Given the description of an element on the screen output the (x, y) to click on. 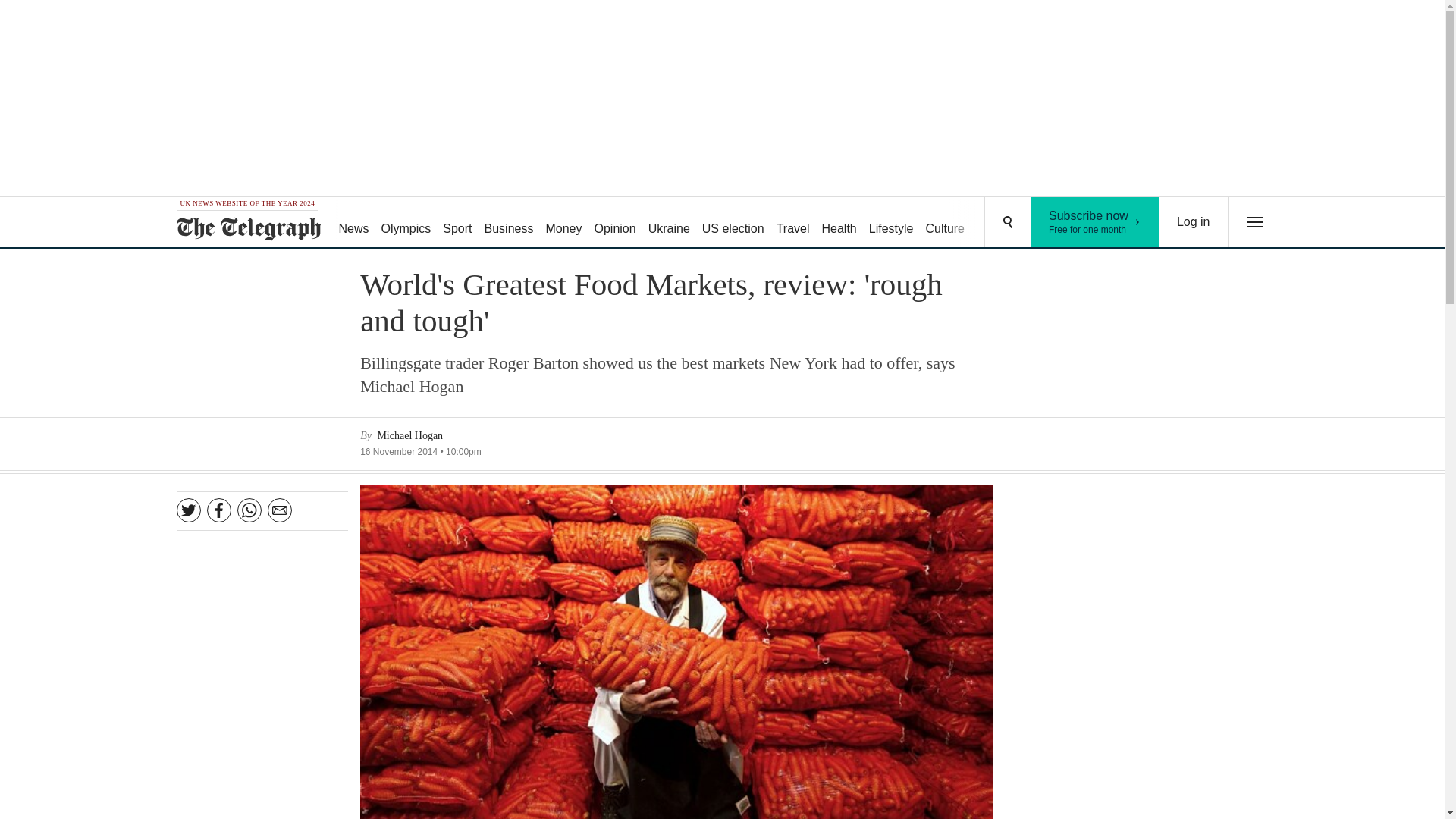
Podcasts (1056, 223)
Travel (792, 223)
US election (732, 223)
Puzzles (998, 223)
Olympics (406, 223)
Money (563, 223)
Ukraine (668, 223)
Opinion (1094, 222)
Business (615, 223)
Health (509, 223)
Log in (838, 223)
Lifestyle (1193, 222)
Culture (891, 223)
